Given the description of an element on the screen output the (x, y) to click on. 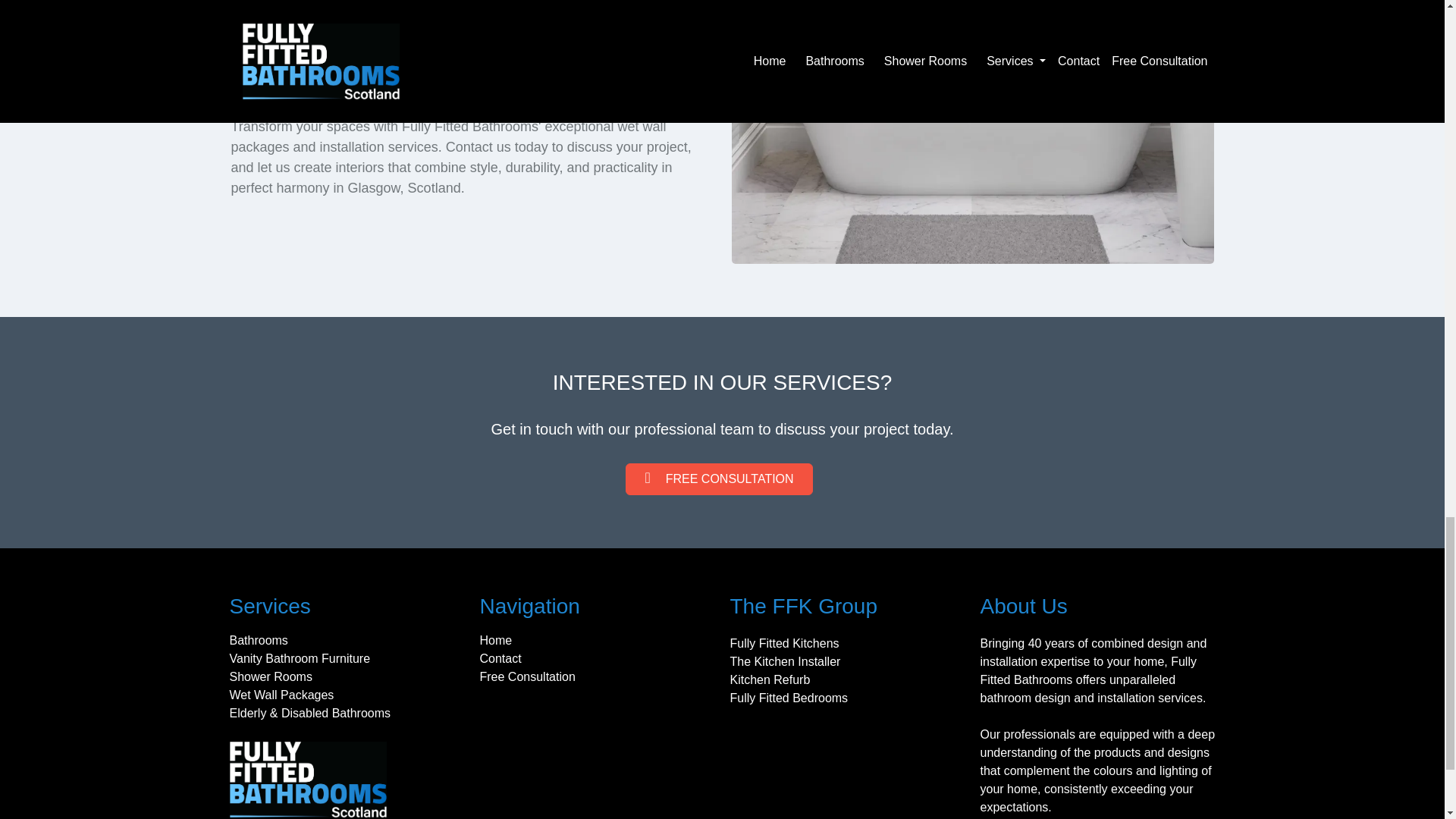
Fully Fitted Bedrooms (850, 698)
Fully Fitted Kitchens (850, 643)
Home (600, 640)
Contact (600, 659)
Vanity Bathroom Furniture (349, 659)
Bathrooms (349, 640)
FREE CONSULTATION (719, 479)
Free Consultation (600, 677)
The Kitchen Installer (850, 661)
Shower Rooms (349, 677)
Wet Wall Packages (349, 695)
Kitchen Refurb (850, 679)
